Given the description of an element on the screen output the (x, y) to click on. 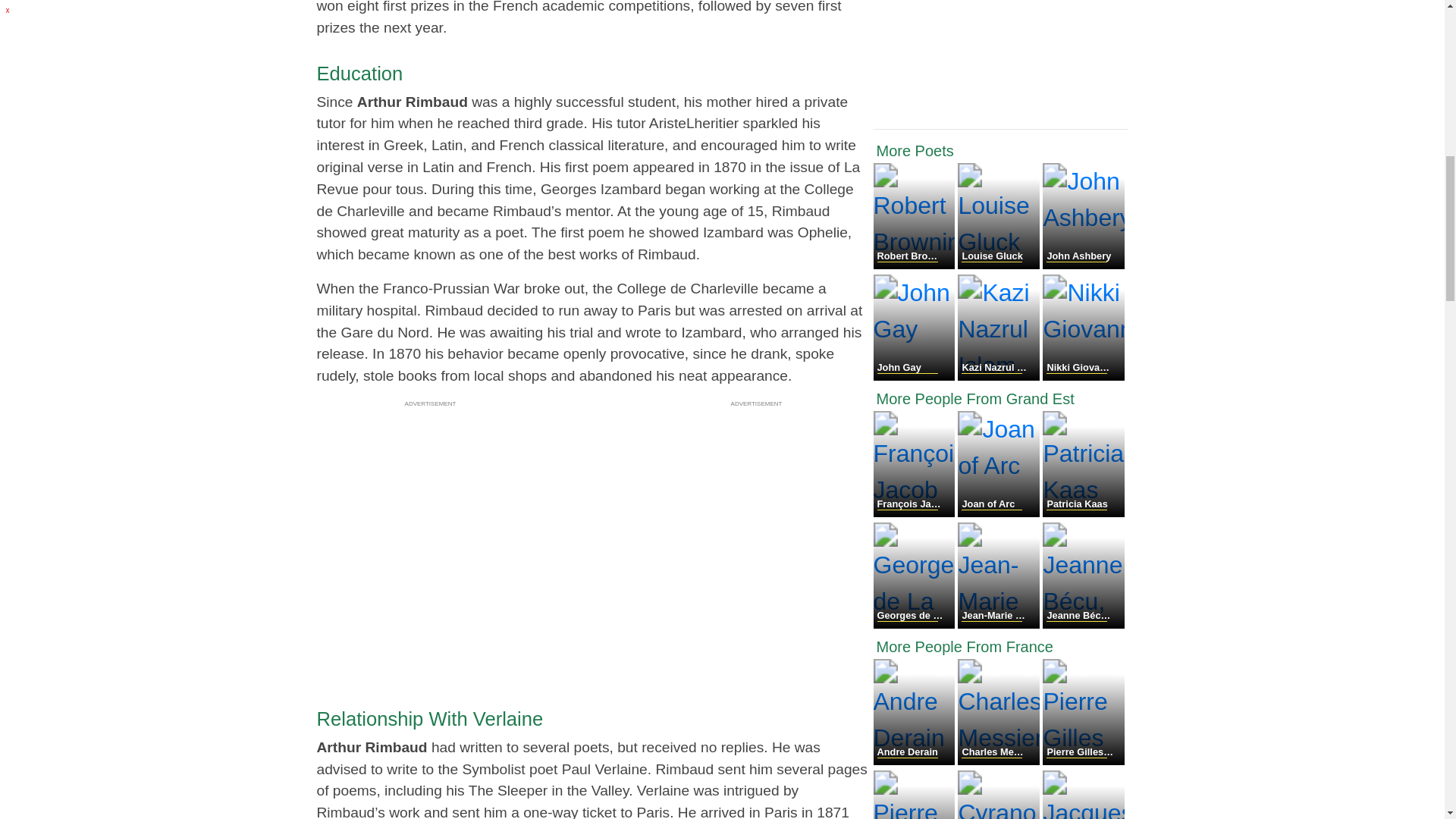
Georges de La Tour (915, 624)
More People From France (1000, 647)
John Gay (915, 376)
3rd party ad content (430, 506)
Charles Messier (1000, 760)
Andre Derain (915, 760)
3rd party ad content (756, 506)
Jean-Marie Lehn (1000, 624)
John Ashbery (1083, 264)
Patricia Kaas (1083, 512)
Louise Gluck (1000, 264)
More People From Grand Est (1000, 398)
Robert Browning (915, 264)
Nikki Giovanni (1083, 376)
